Given the description of an element on the screen output the (x, y) to click on. 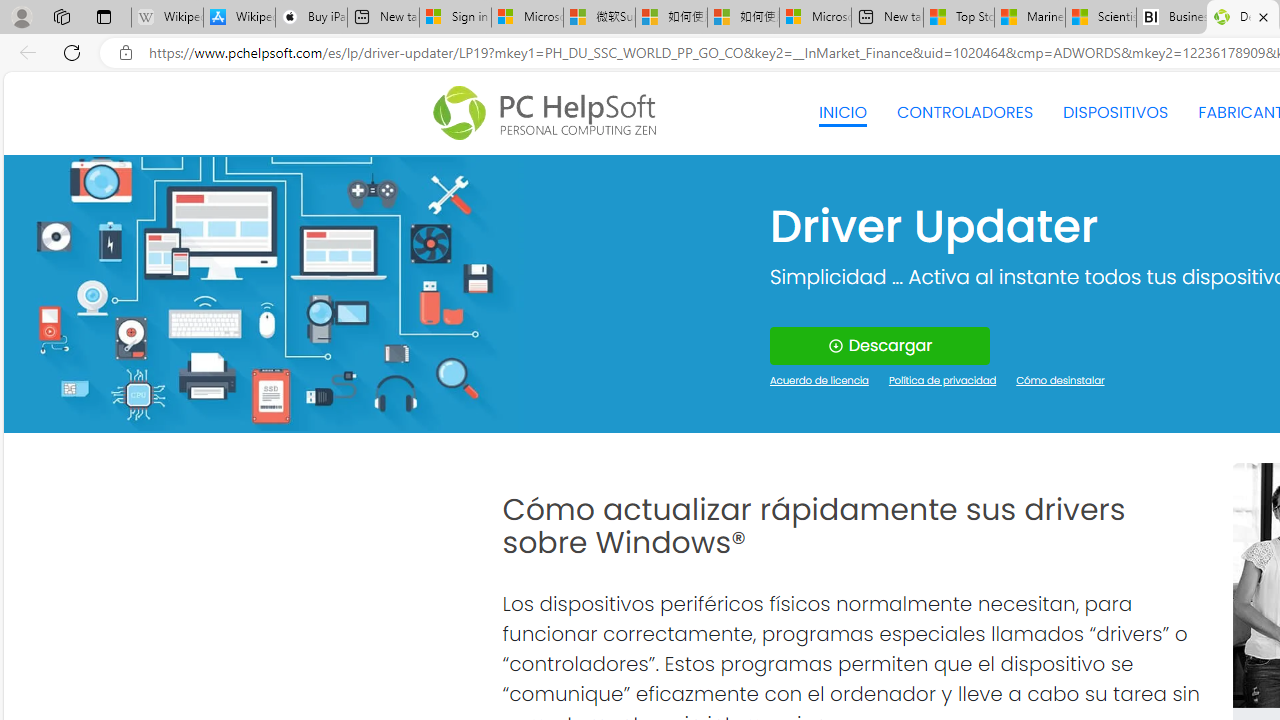
CONTROLADORES (965, 112)
INICIO (842, 112)
Logo Personal Computing (550, 113)
CONTROLADORES (965, 112)
